Given the description of an element on the screen output the (x, y) to click on. 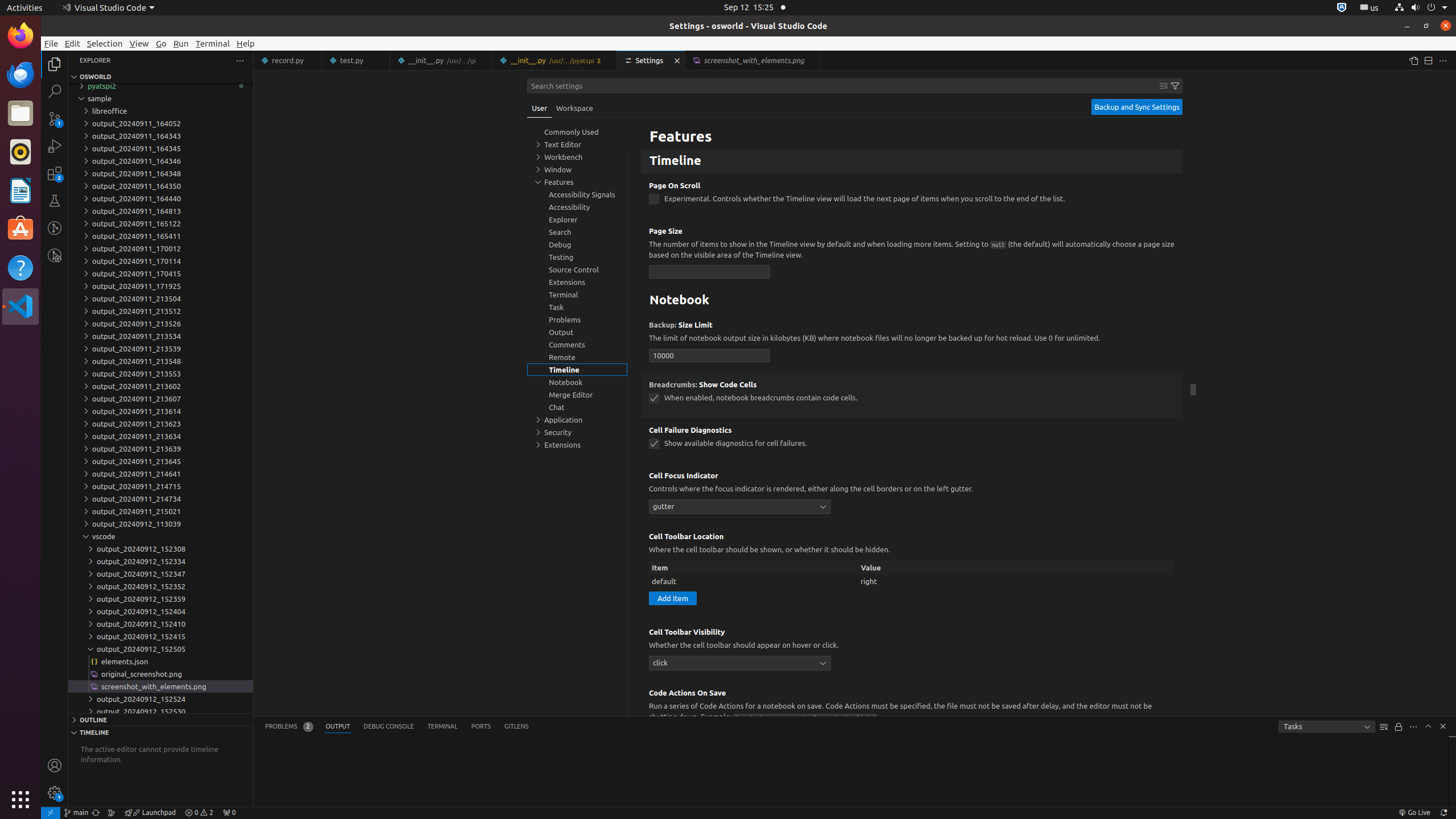
sample Element type: tree-item (160, 98)
Active View Switcher Element type: page-tab-list (396, 726)
Terminal (Ctrl+`) Element type: page-tab (442, 726)
output_20240911_164343 Element type: tree-item (160, 135)
